Given the description of an element on the screen output the (x, y) to click on. 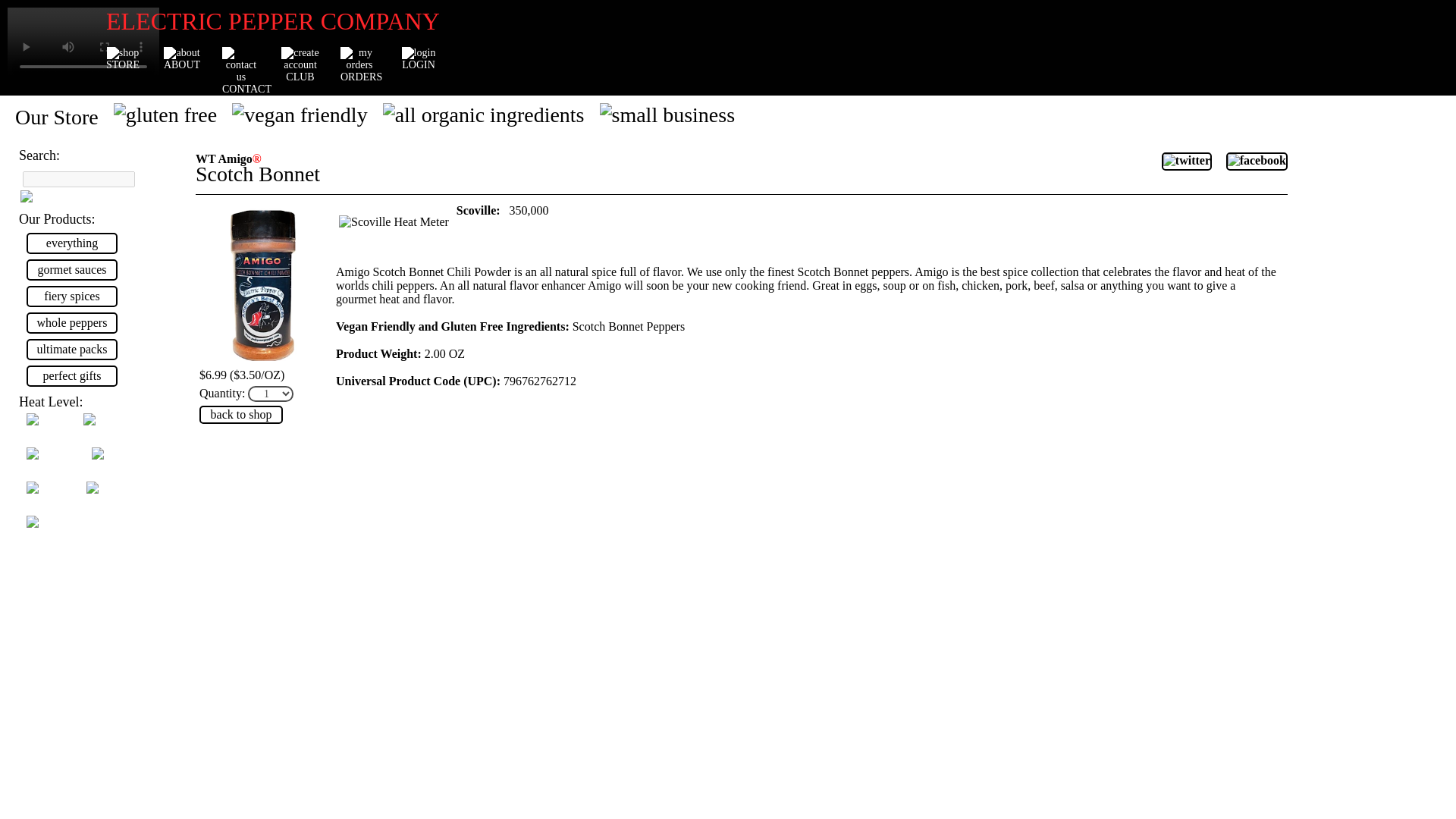
CLUB (295, 58)
whole peppers (71, 322)
ultimate packs (71, 349)
ORDERS (355, 58)
gormet sauces (71, 269)
Y (49, 196)
LOGIN (414, 58)
perfect gifts (71, 375)
BACK TO SHOP (240, 414)
everything (71, 242)
